Given the description of an element on the screen output the (x, y) to click on. 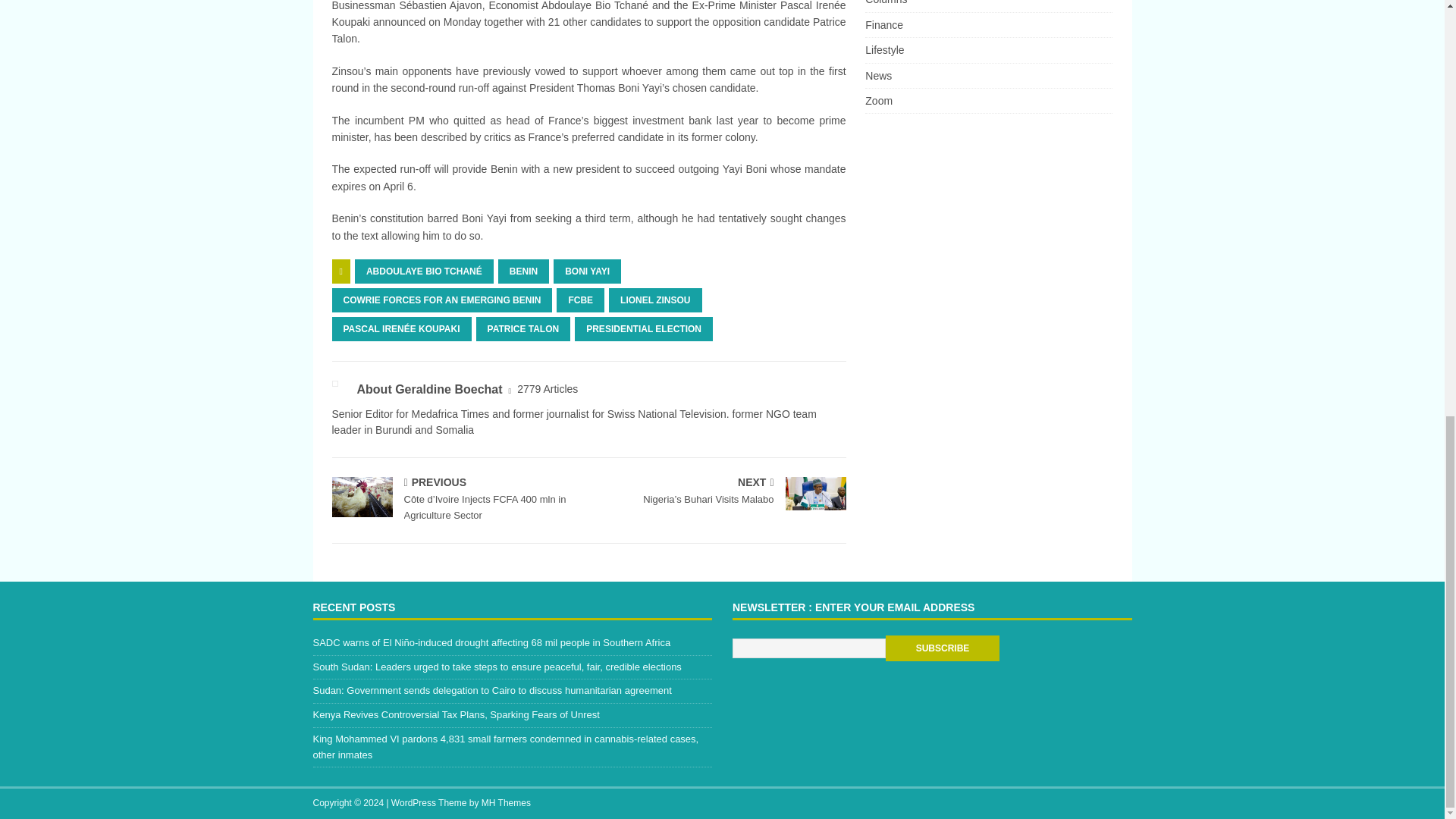
LIONEL ZINSOU (654, 300)
FCBE (580, 300)
More articles written by Geraldine Boechat' (547, 389)
BENIN (522, 271)
Subscribe (941, 647)
2779 Articles (547, 389)
COWRIE FORCES FOR AN EMERGING BENIN (442, 300)
PATRICE TALON (523, 328)
BONI YAYI (587, 271)
PRESIDENTIAL ELECTION (644, 328)
